Given the description of an element on the screen output the (x, y) to click on. 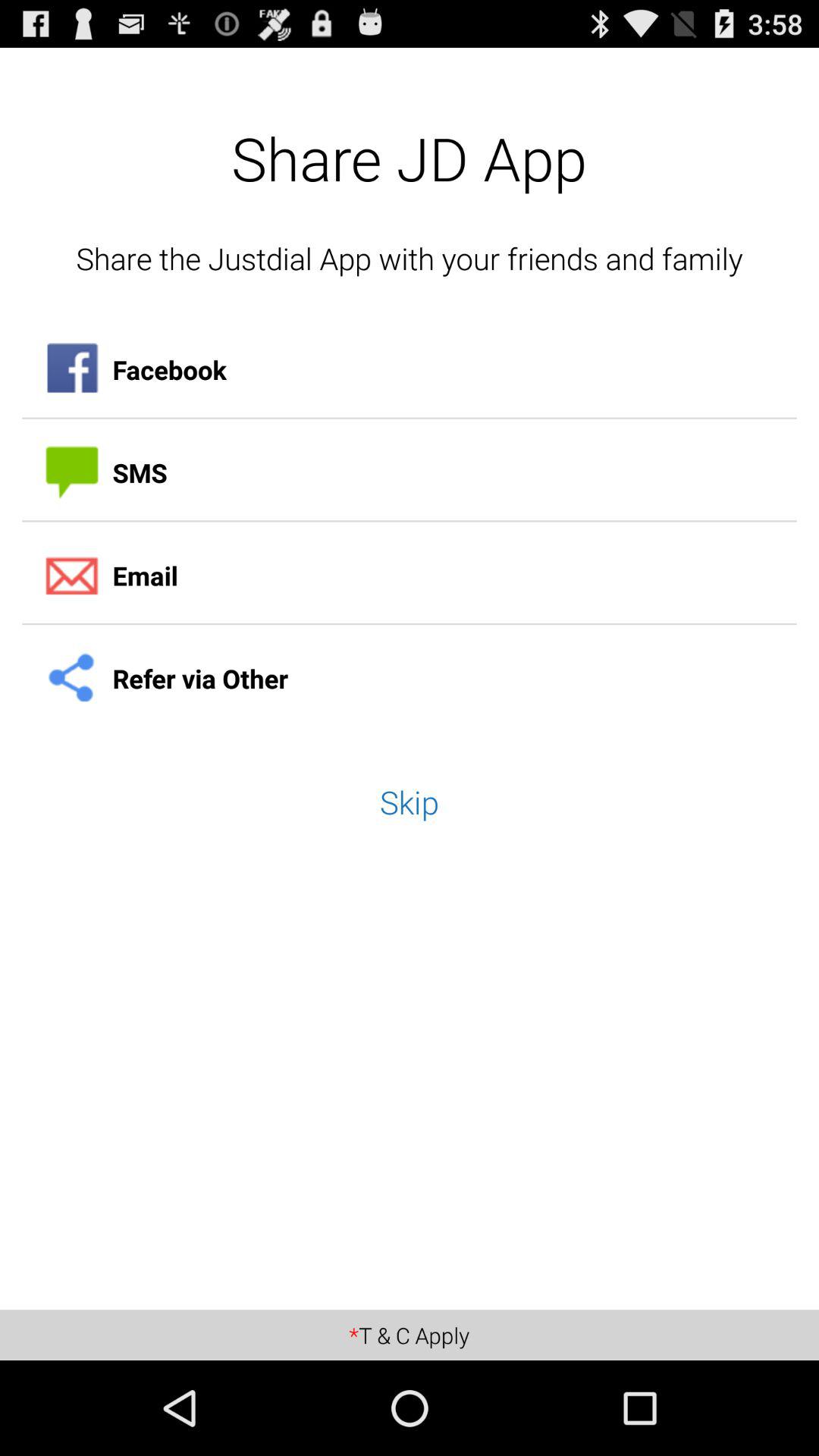
select the skip app (409, 801)
